Given the description of an element on the screen output the (x, y) to click on. 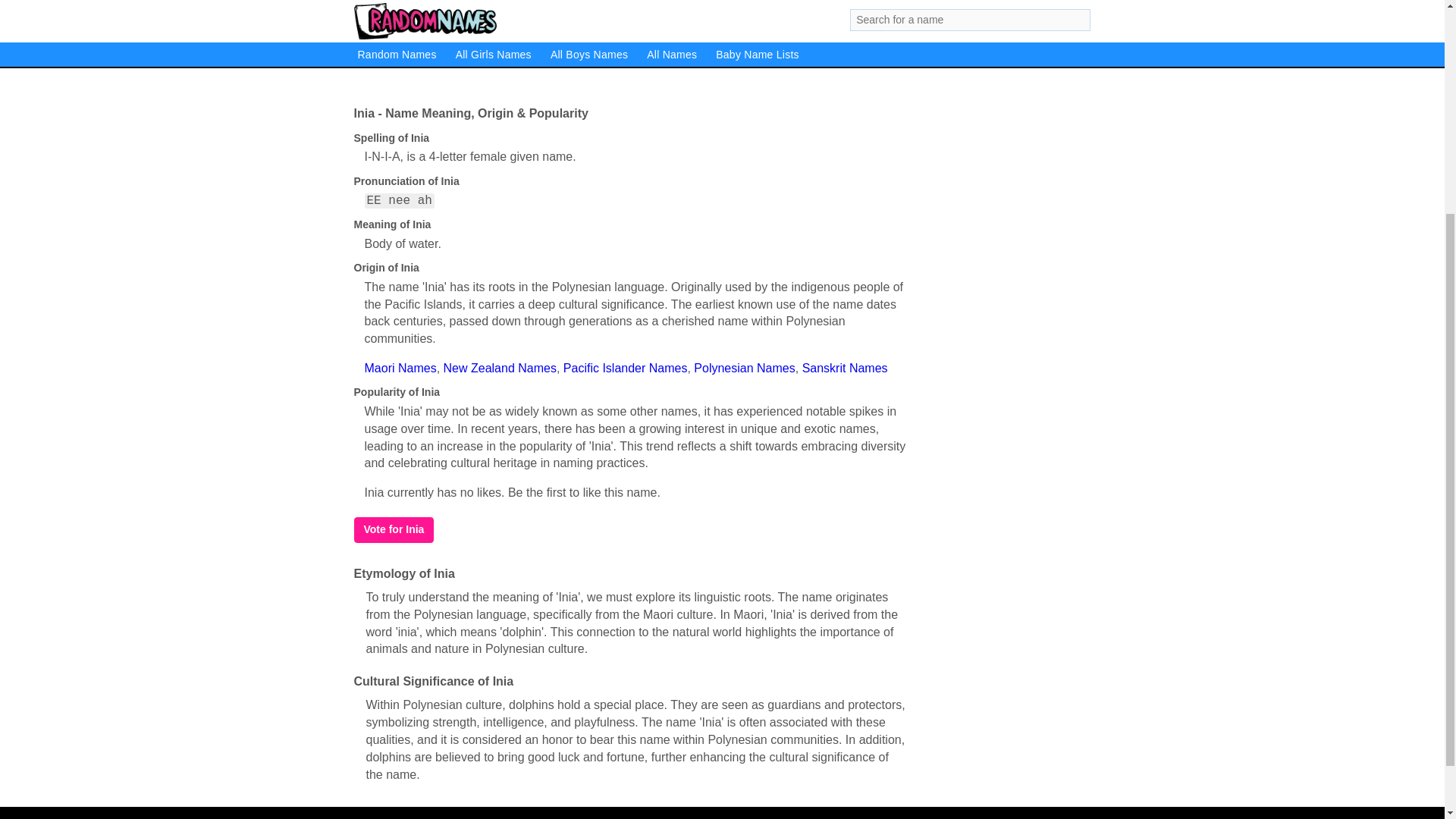
Maori Names (399, 367)
Advertisement (629, 45)
Sanskrit Names (845, 367)
Vote for Inia (393, 529)
Pacific Islander Names (625, 367)
Sanskrit Names (845, 367)
New Zealand Names (500, 367)
Maori Names (399, 367)
New Zealand Names (500, 367)
Pacific Islander Names (625, 367)
Polynesian Names (744, 367)
Polynesian Names (744, 367)
